Given the description of an element on the screen output the (x, y) to click on. 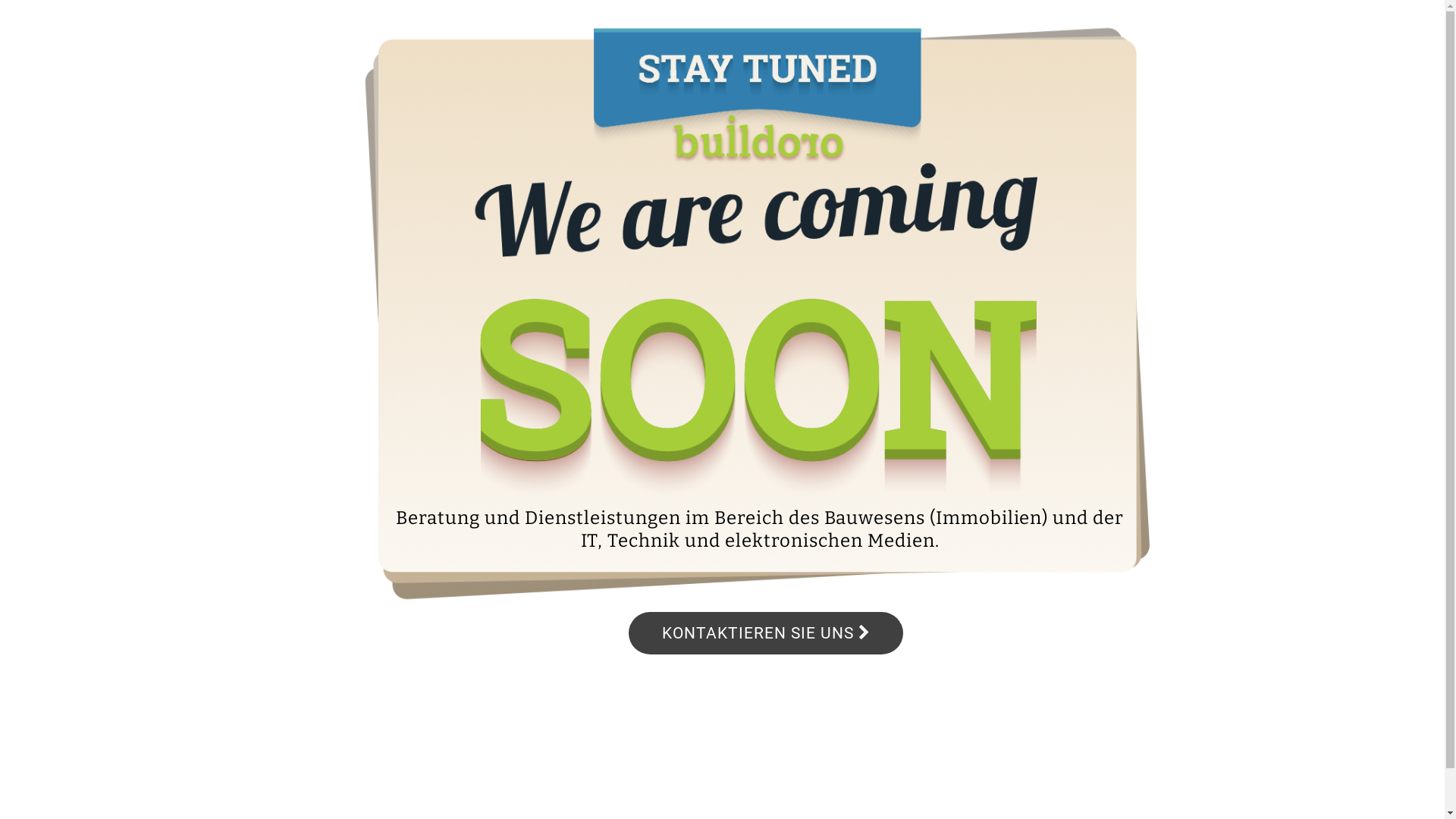
KONTAKTIEREN SIE UNS Element type: text (765, 632)
